Given the description of an element on the screen output the (x, y) to click on. 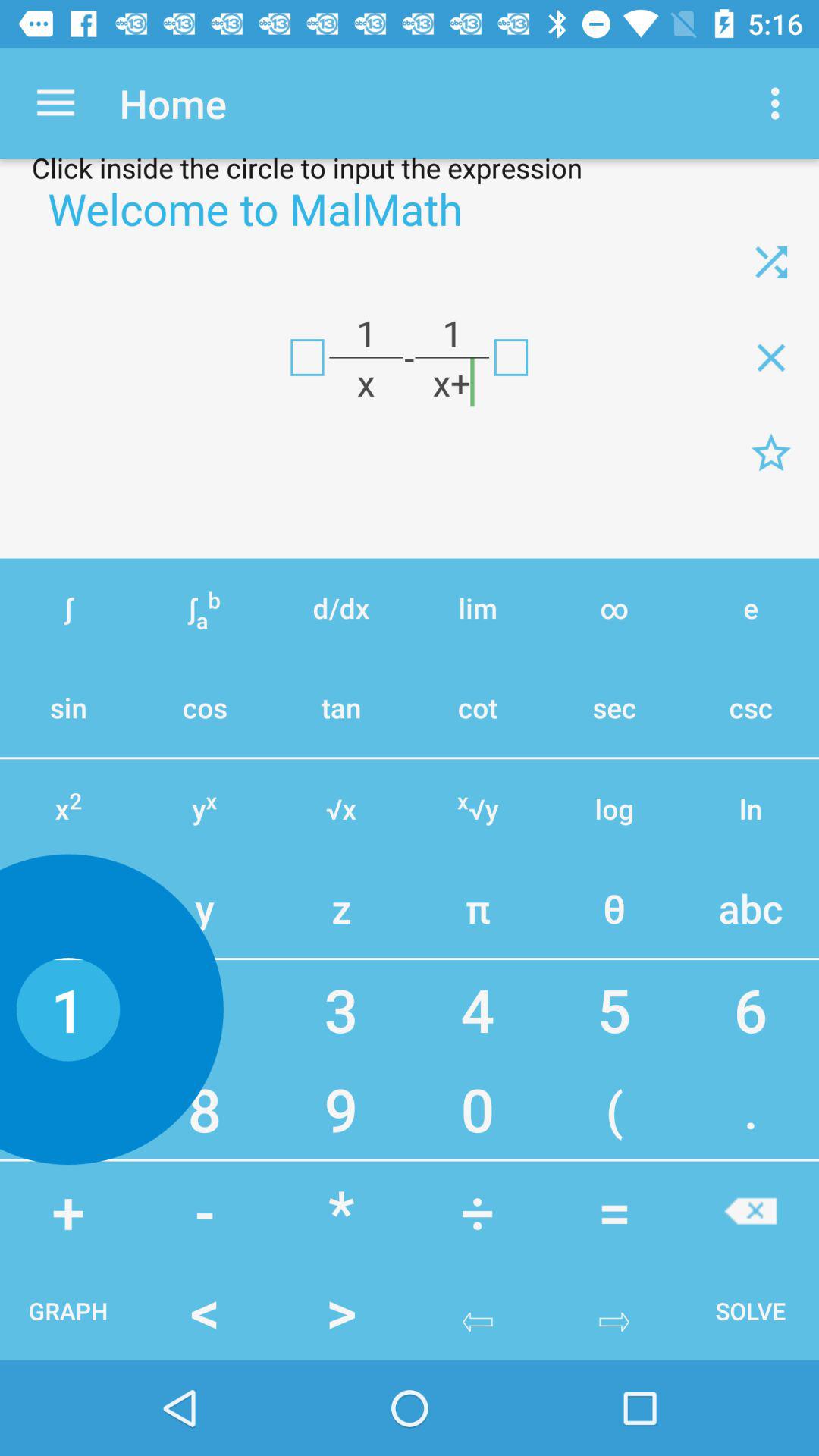
formula page (771, 453)
